Given the description of an element on the screen output the (x, y) to click on. 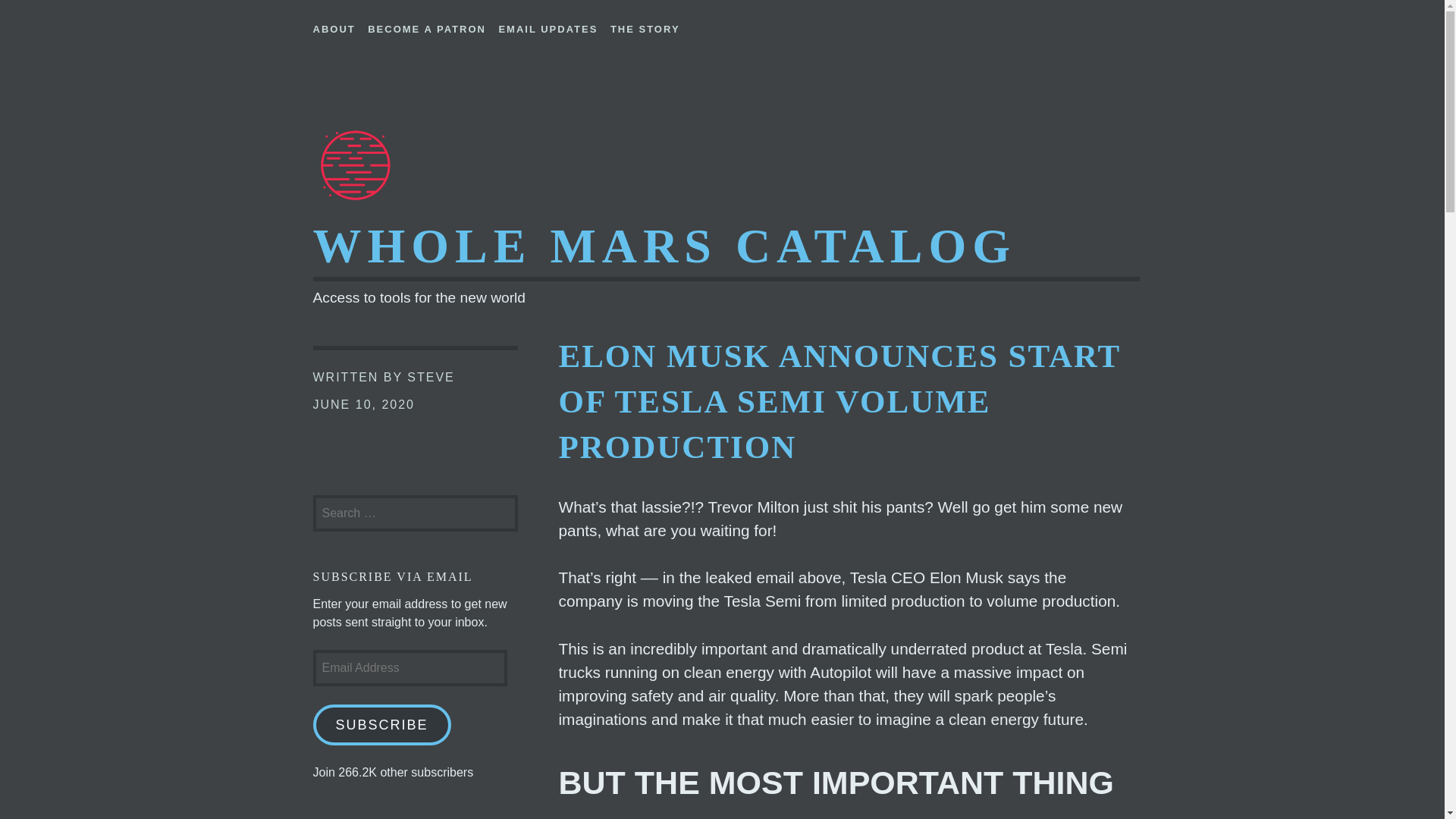
ABOUT (334, 25)
EMAIL UPDATES (546, 25)
JUNE 10, 2020 (363, 404)
STEVE (430, 377)
SUBSCRIBE (381, 724)
BECOME A PATRON (427, 25)
THE STORY (644, 25)
Search (50, 18)
WHOLE MARS CATALOG (663, 245)
